Given the description of an element on the screen output the (x, y) to click on. 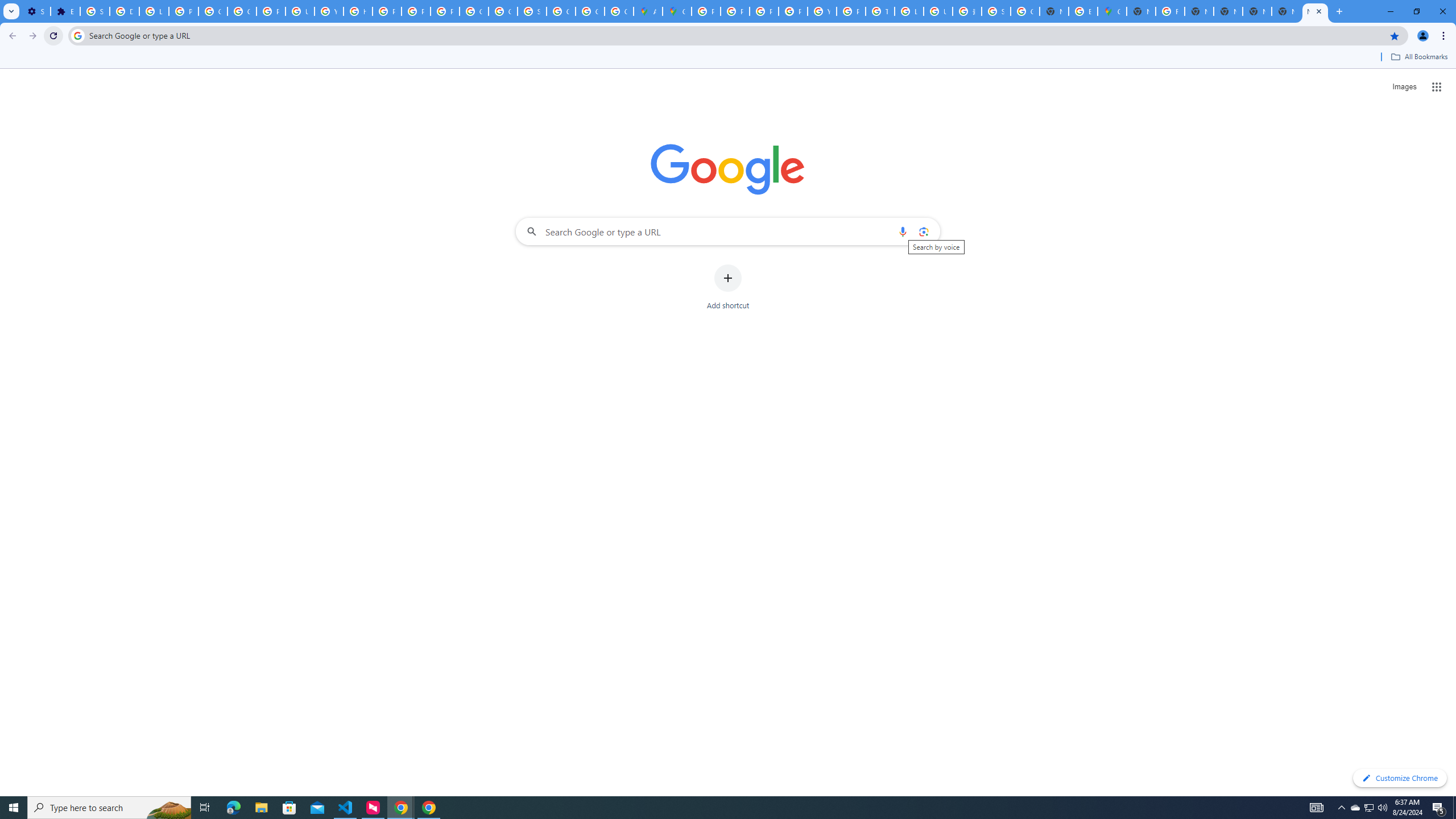
YouTube (821, 11)
Sign in - Google Accounts (996, 11)
https://scholar.google.com/ (357, 11)
Google Maps (1111, 11)
Policy Accountability and Transparency - Transparency Center (705, 11)
Settings - On startup (35, 11)
